Given the description of an element on the screen output the (x, y) to click on. 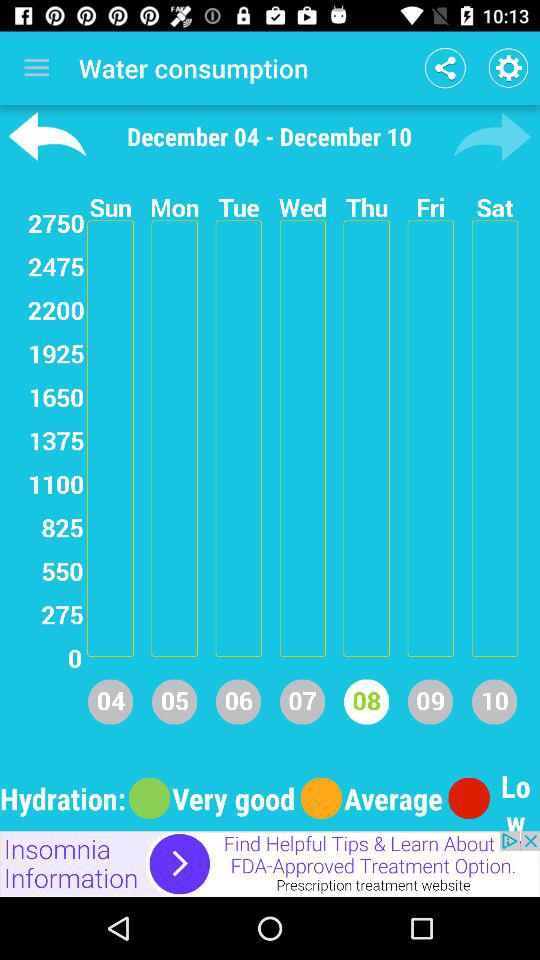
insomnia add (270, 864)
